Given the description of an element on the screen output the (x, y) to click on. 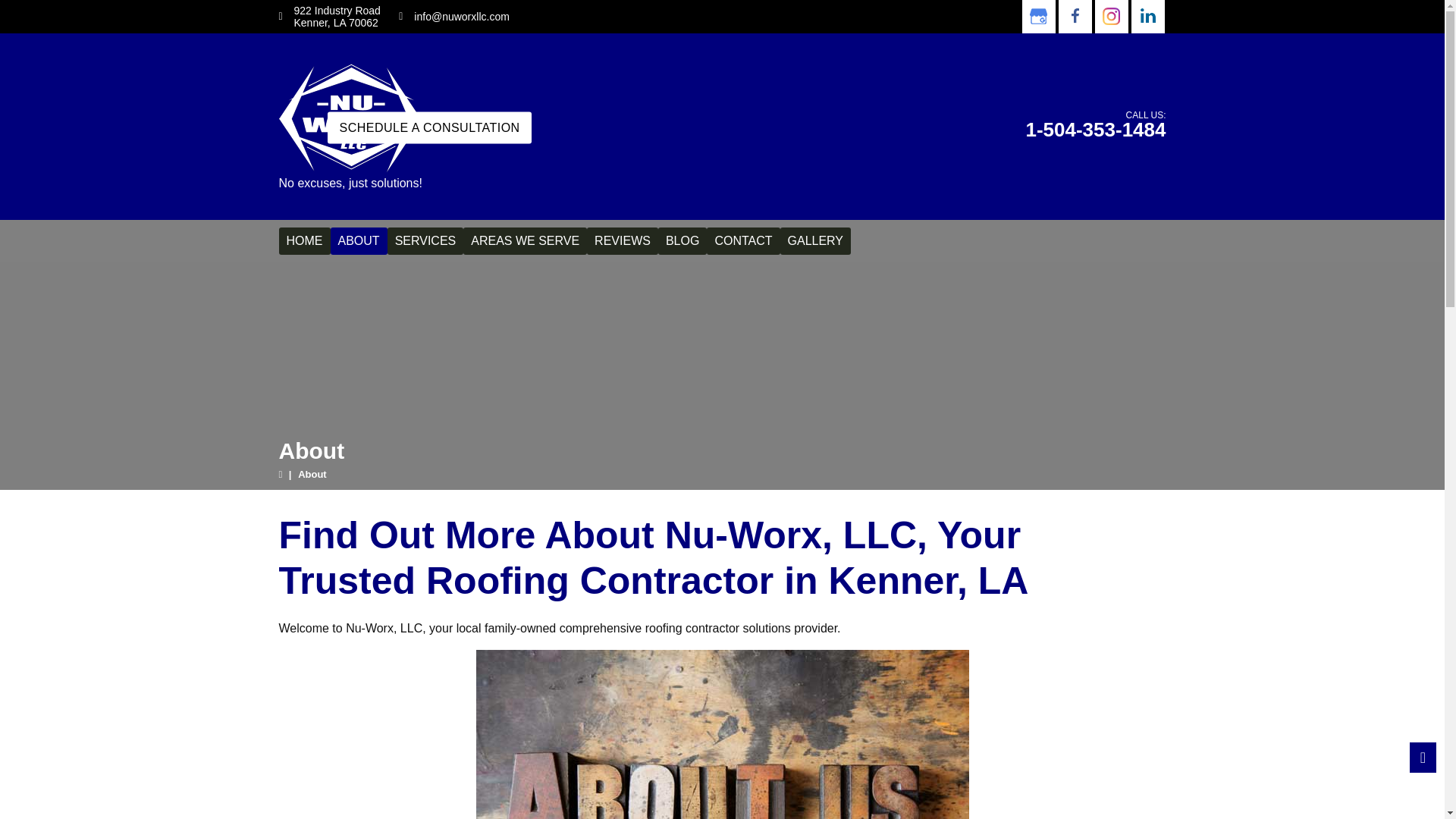
About Us (722, 734)
SERVICES (425, 240)
Instagram (1110, 16)
LinkedIn (1146, 16)
ABOUT (358, 240)
Nu-Worx LLC (350, 116)
SCHEDULE A CONSULTATION (429, 128)
Google Business Profile (1037, 16)
Facebook (1074, 16)
HOME (304, 240)
